Given the description of an element on the screen output the (x, y) to click on. 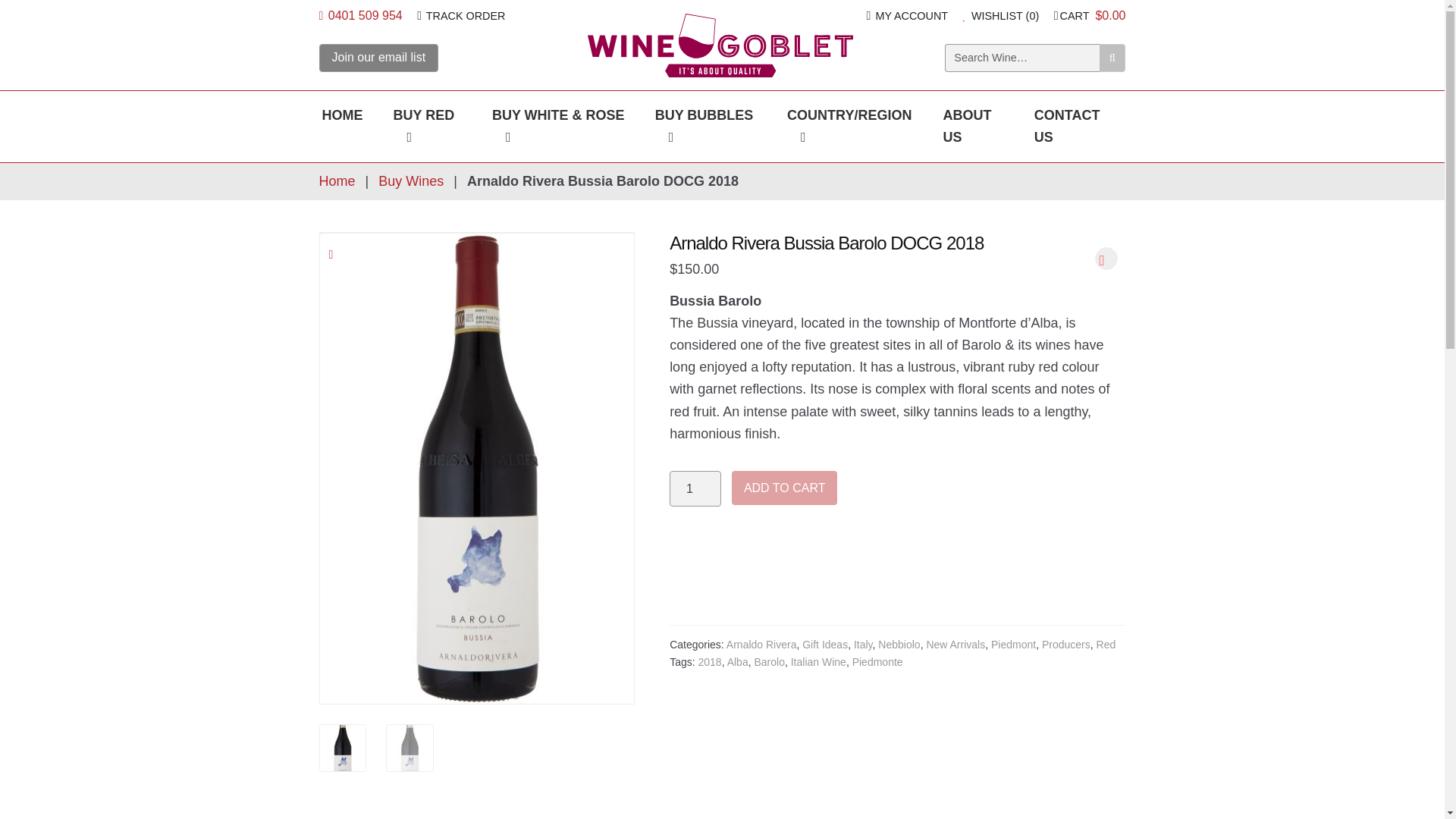
Join our email list (378, 58)
BUY RED (427, 126)
0401 509 954 (360, 15)
View your shopping cart (1089, 15)
BUY BUBBLES (705, 126)
PayPal Message 1 (897, 547)
MY ACCOUNT (907, 15)
HOME (342, 115)
1 (694, 488)
TRACK ORDER (460, 15)
Search (1112, 58)
PayPal (897, 592)
